Given the description of an element on the screen output the (x, y) to click on. 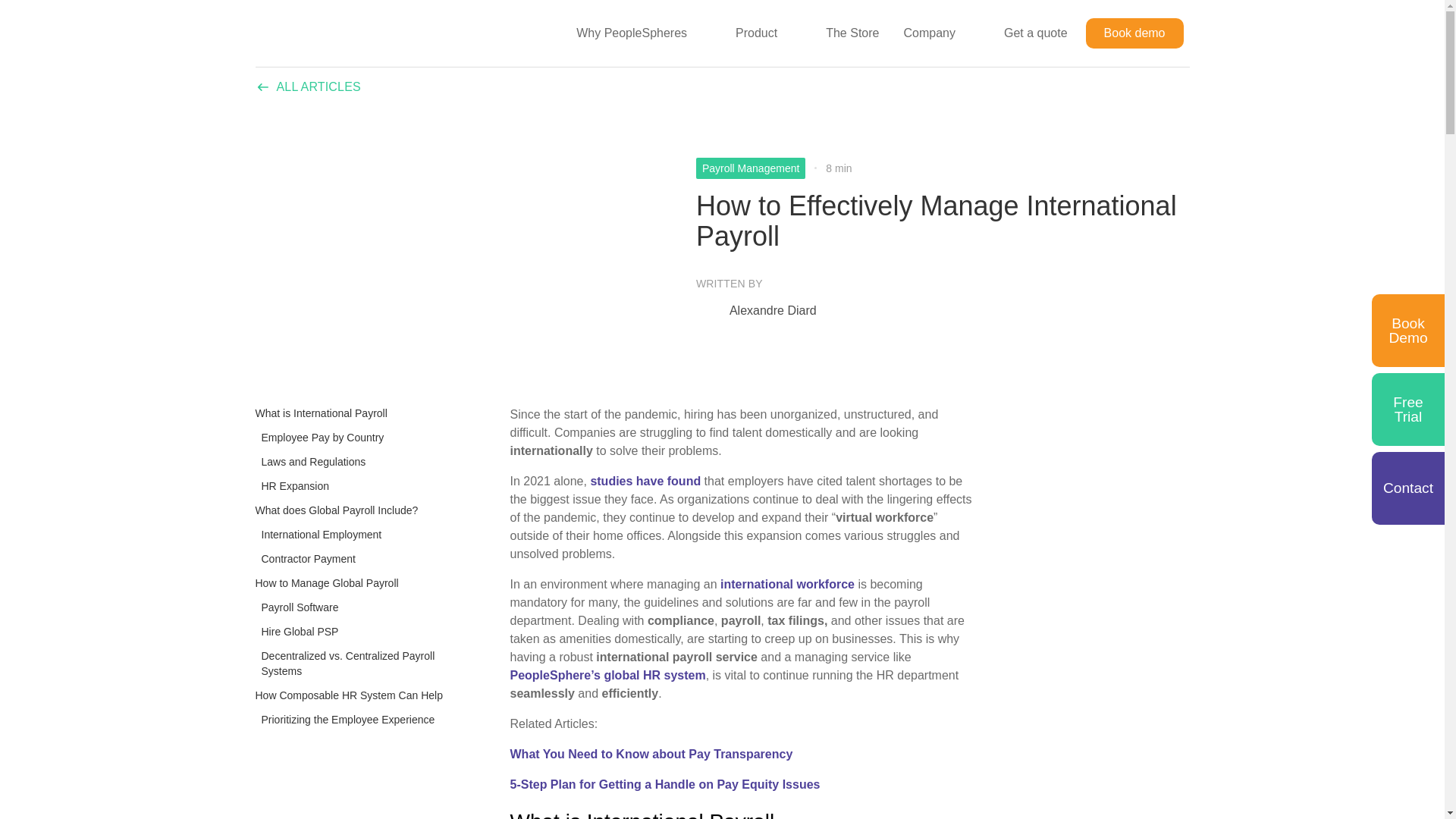
Why PeopleSpheres (625, 33)
What does Global Payroll Include? (335, 509)
HR Expansion (291, 485)
Hire Global PSP (295, 631)
PEOPLESPHERES (330, 33)
The Store (852, 33)
Product (750, 33)
Get a quote (1035, 33)
How to Effectively Manage International Payroll (942, 220)
Company (923, 33)
